Given the description of an element on the screen output the (x, y) to click on. 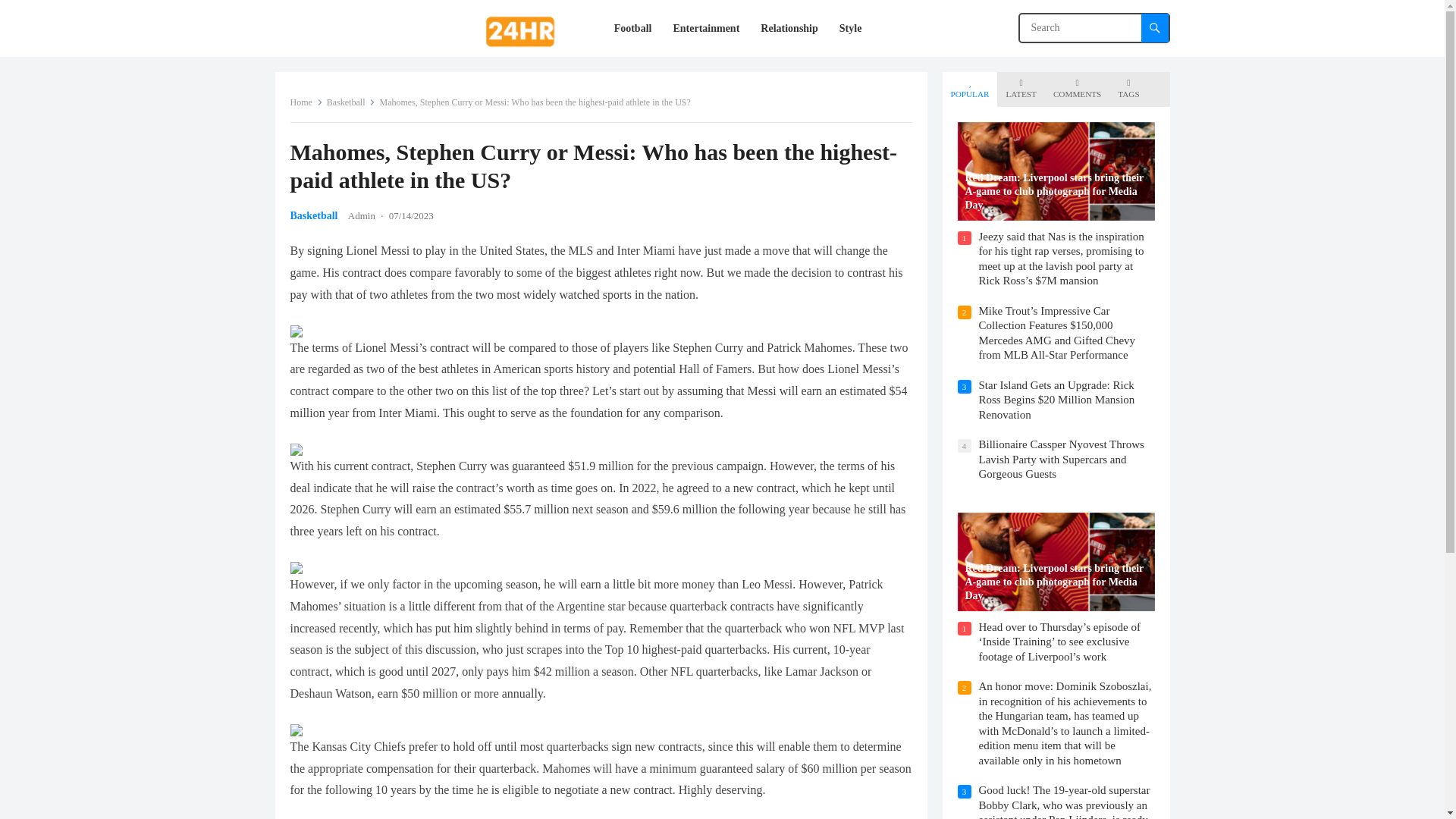
TAGS (1128, 88)
Admin (361, 215)
Entertainment (705, 28)
Comments (1076, 88)
POPULAR (970, 88)
Home (305, 102)
Latest (1020, 88)
Basketball (350, 102)
Football (633, 28)
